Given the description of an element on the screen output the (x, y) to click on. 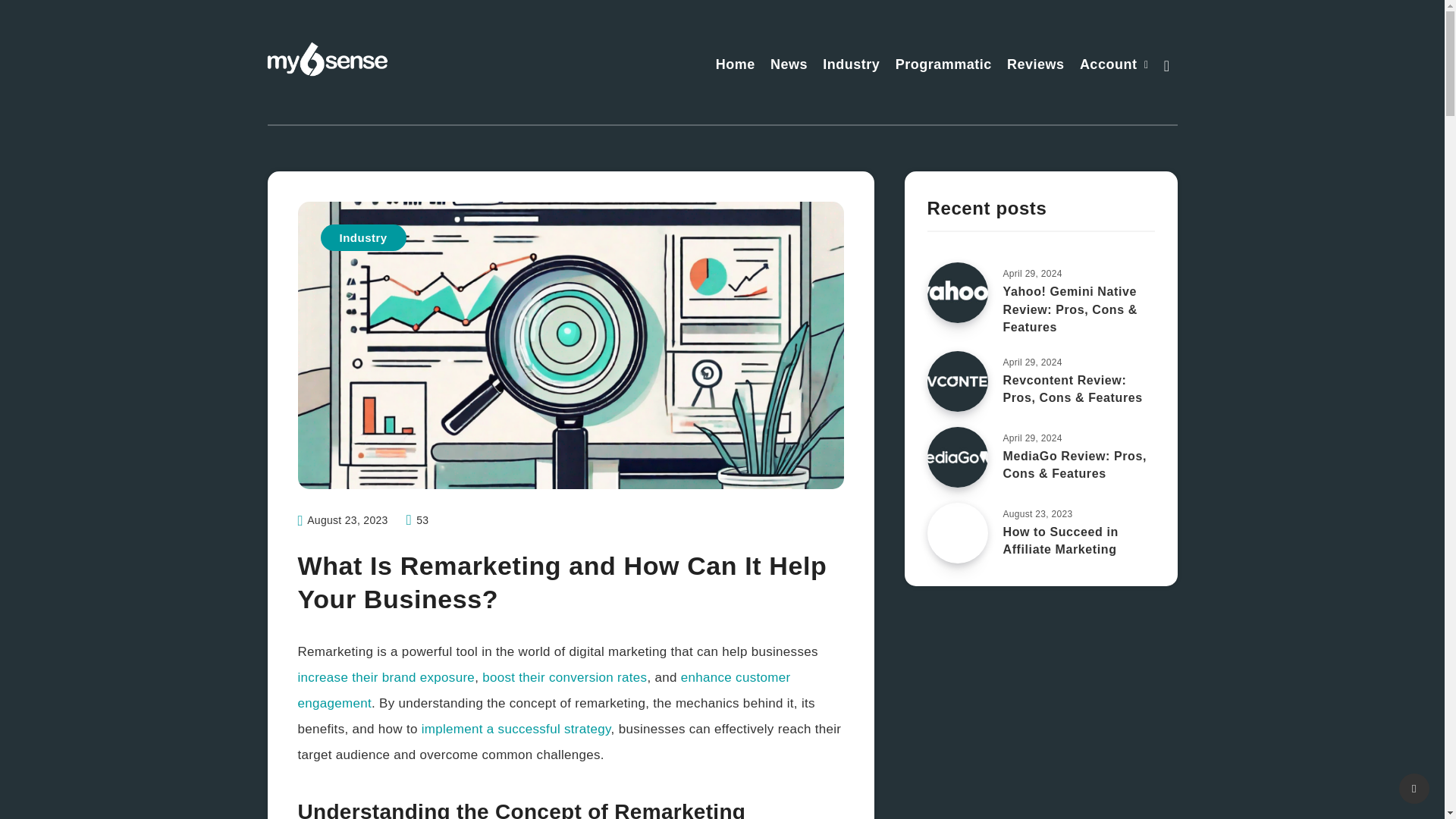
Industry (850, 65)
Industry (363, 237)
implement a successful strategy (516, 728)
Views (417, 520)
boost their conversion rates (563, 677)
How to Succeed in Affiliate Marketing (1060, 542)
News (789, 65)
Reviews (1035, 65)
increase their brand exposure (385, 677)
Account (1108, 65)
Programmatic (943, 65)
enhance customer engagement (543, 690)
Home (735, 65)
